Given the description of an element on the screen output the (x, y) to click on. 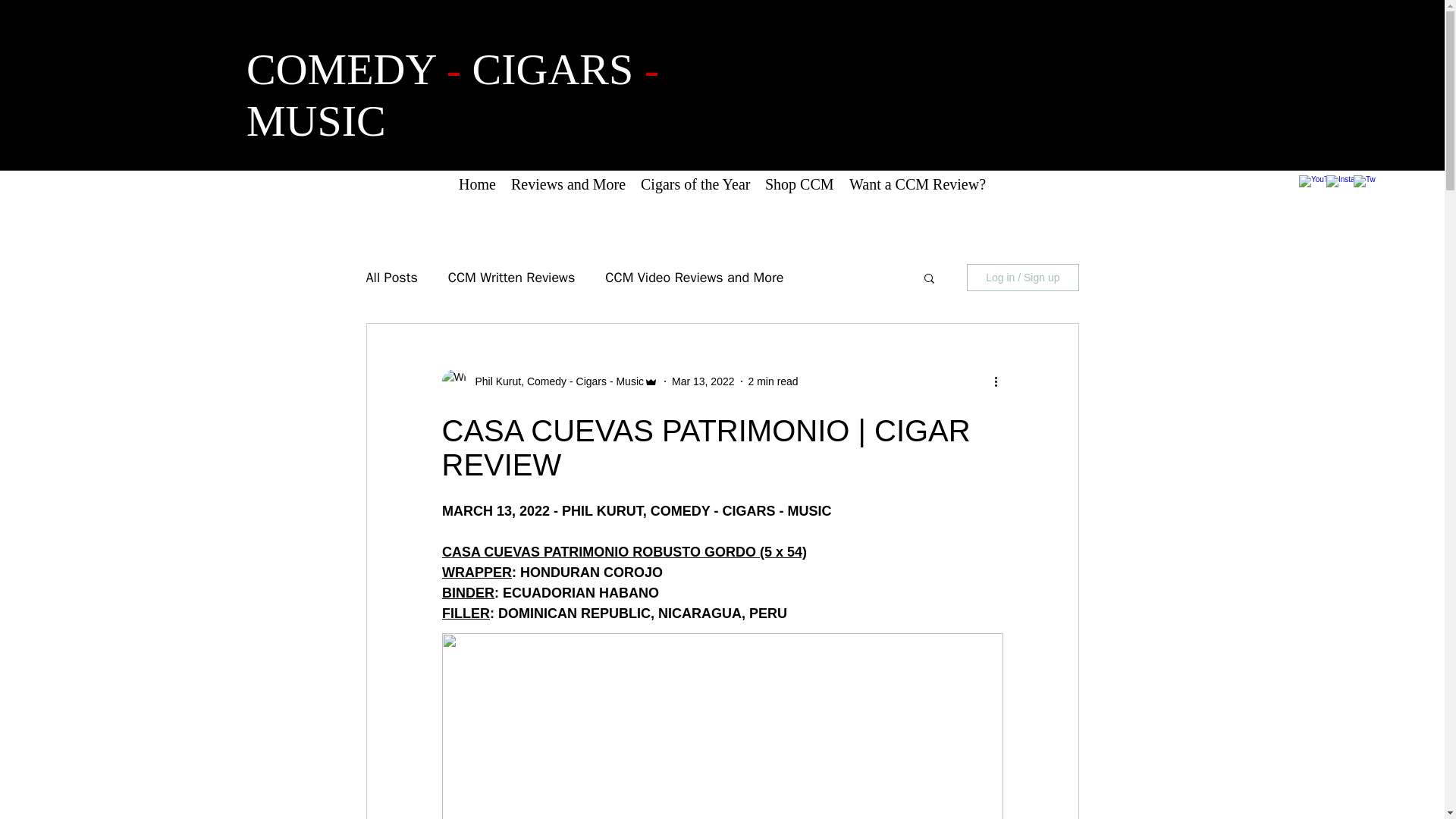
All Posts (390, 277)
Home (477, 183)
CCM Written Reviews (511, 277)
Phil Kurut, Comedy - Cigars - Music (554, 381)
Reviews and More (568, 183)
Shop CCM (799, 183)
CCM Video Reviews and More (694, 277)
Mar 13, 2022 (703, 380)
2 min read (772, 380)
Want a CCM Review? (916, 183)
